Given the description of an element on the screen output the (x, y) to click on. 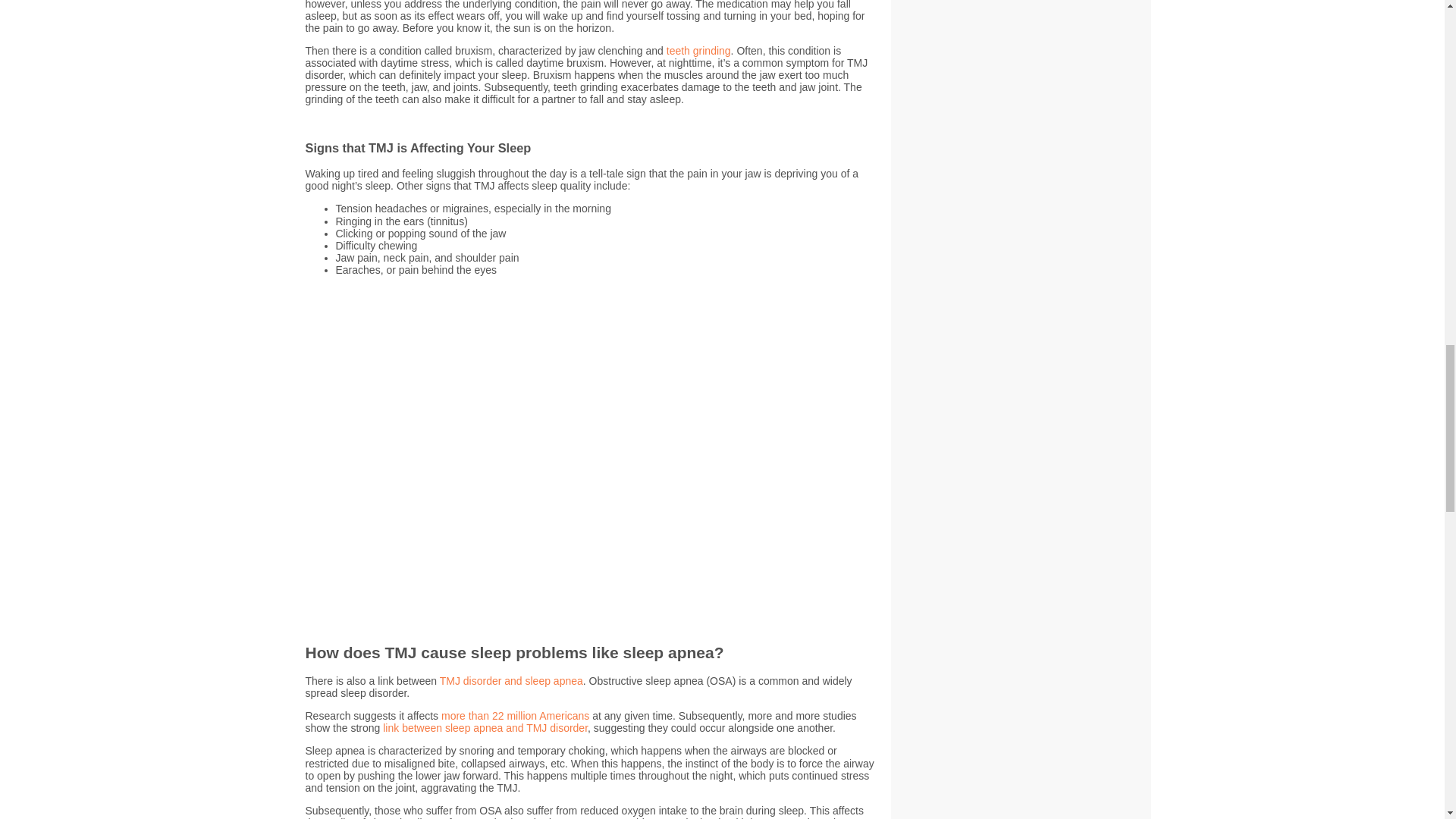
more than 22 million Americans (515, 715)
teeth grinding (698, 50)
link between sleep apnea and TMJ disorder (485, 727)
TMJ disorder and sleep apnea (511, 680)
